Given the description of an element on the screen output the (x, y) to click on. 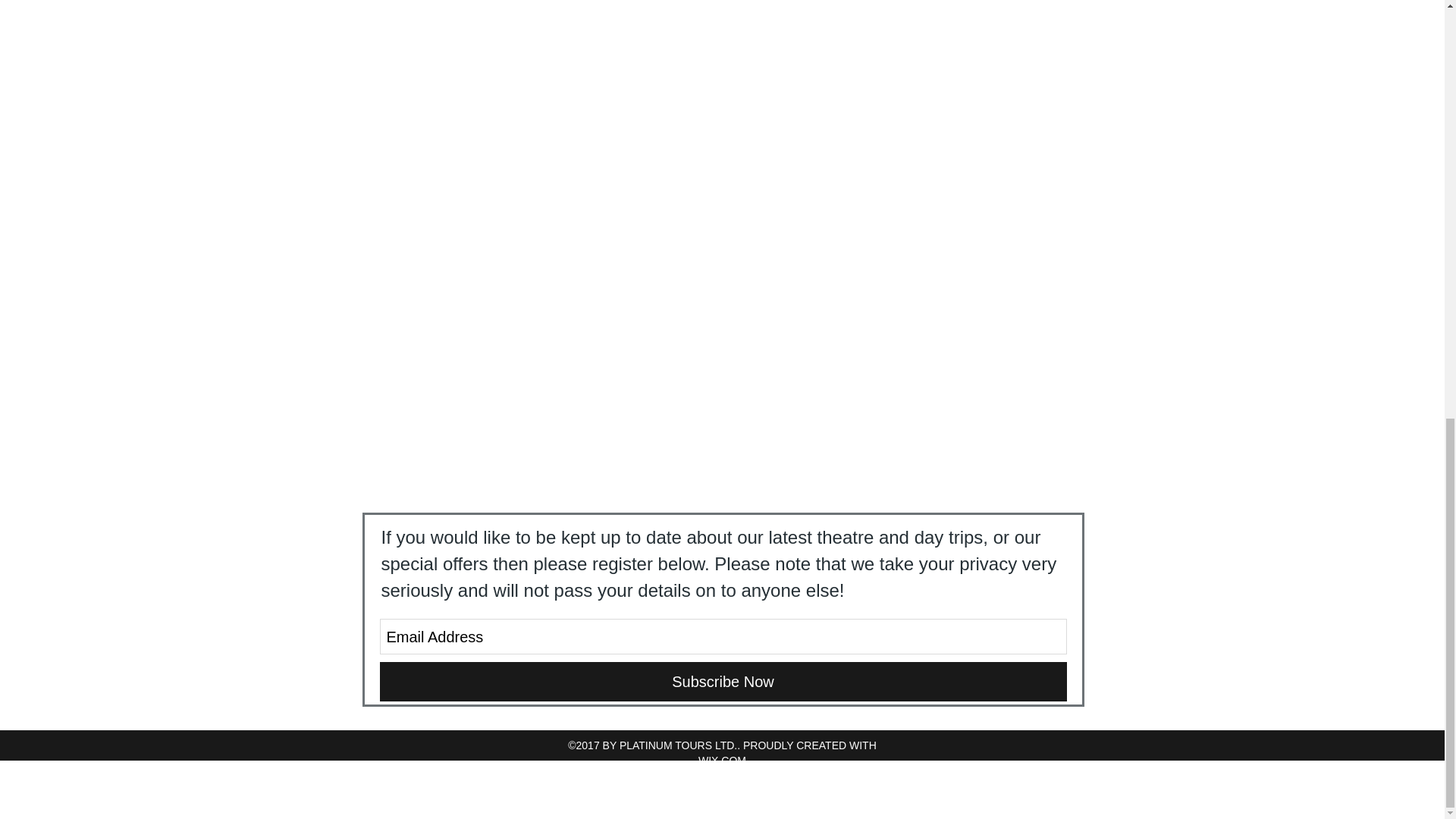
Subscribe Now (721, 681)
